Given the description of an element on the screen output the (x, y) to click on. 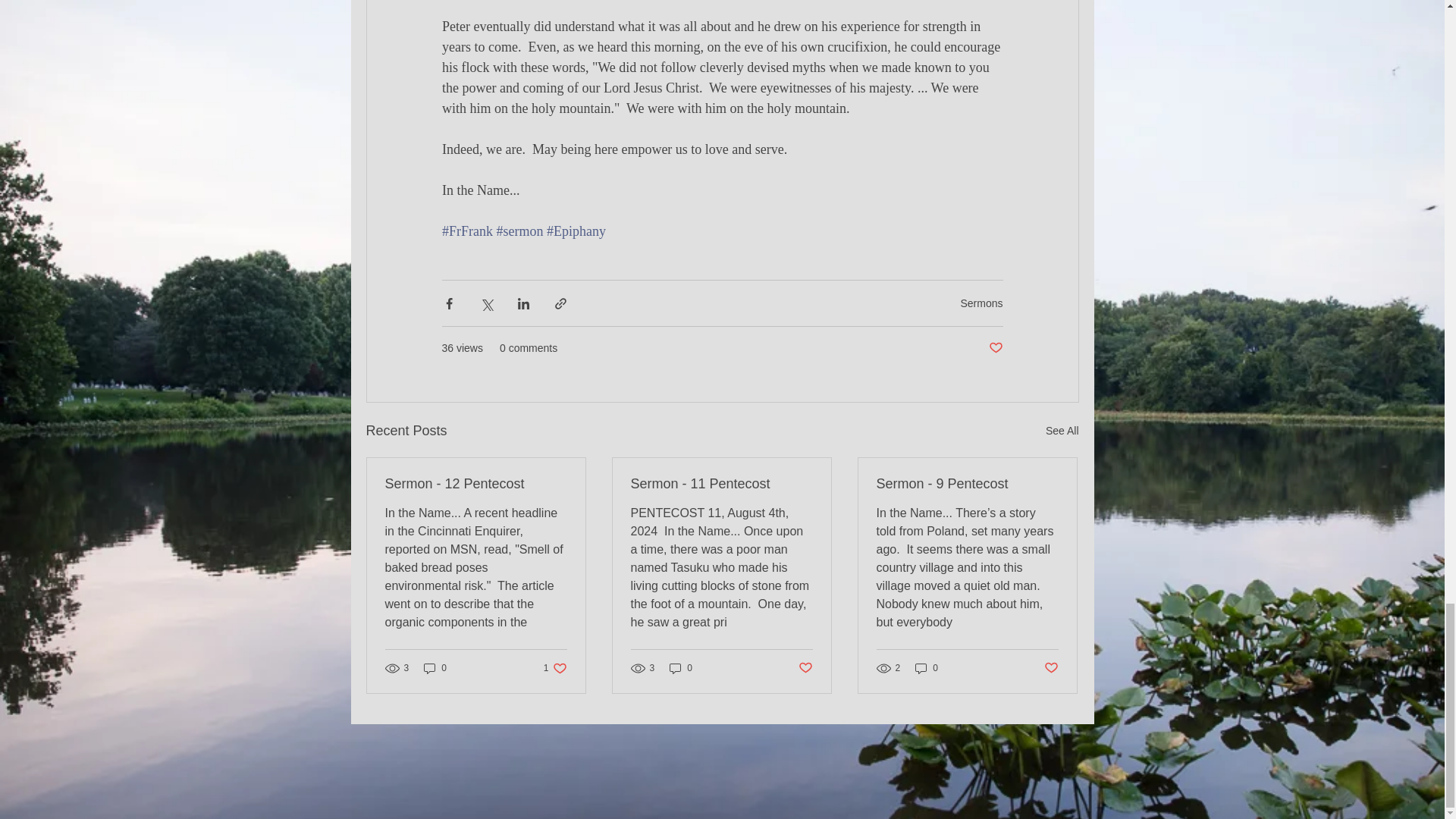
Sermons (981, 303)
Sermon - 11 Pentecost (721, 483)
0 (435, 667)
Post not marked as liked (995, 348)
See All (555, 667)
Sermon - 12 Pentecost (1061, 431)
